Given the description of an element on the screen output the (x, y) to click on. 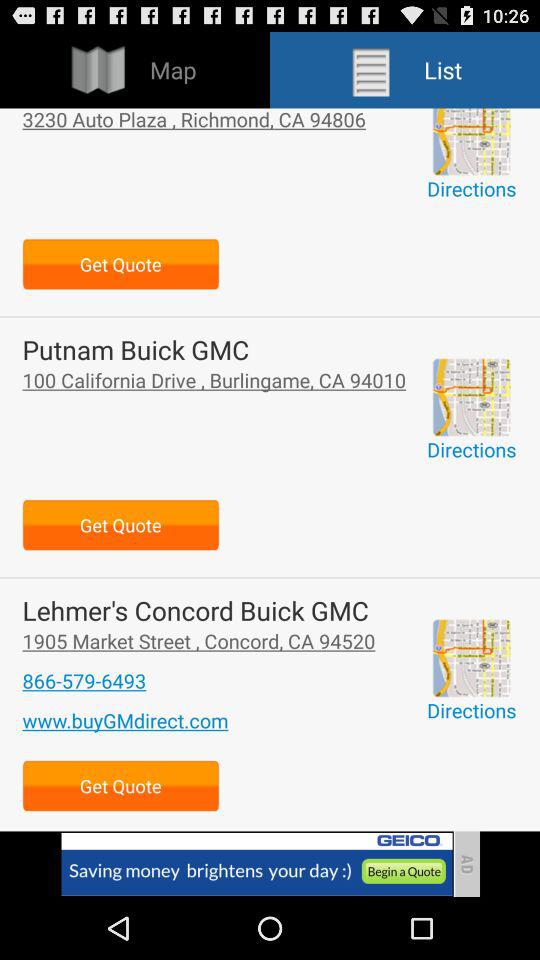
click to directions (471, 658)
